Given the description of an element on the screen output the (x, y) to click on. 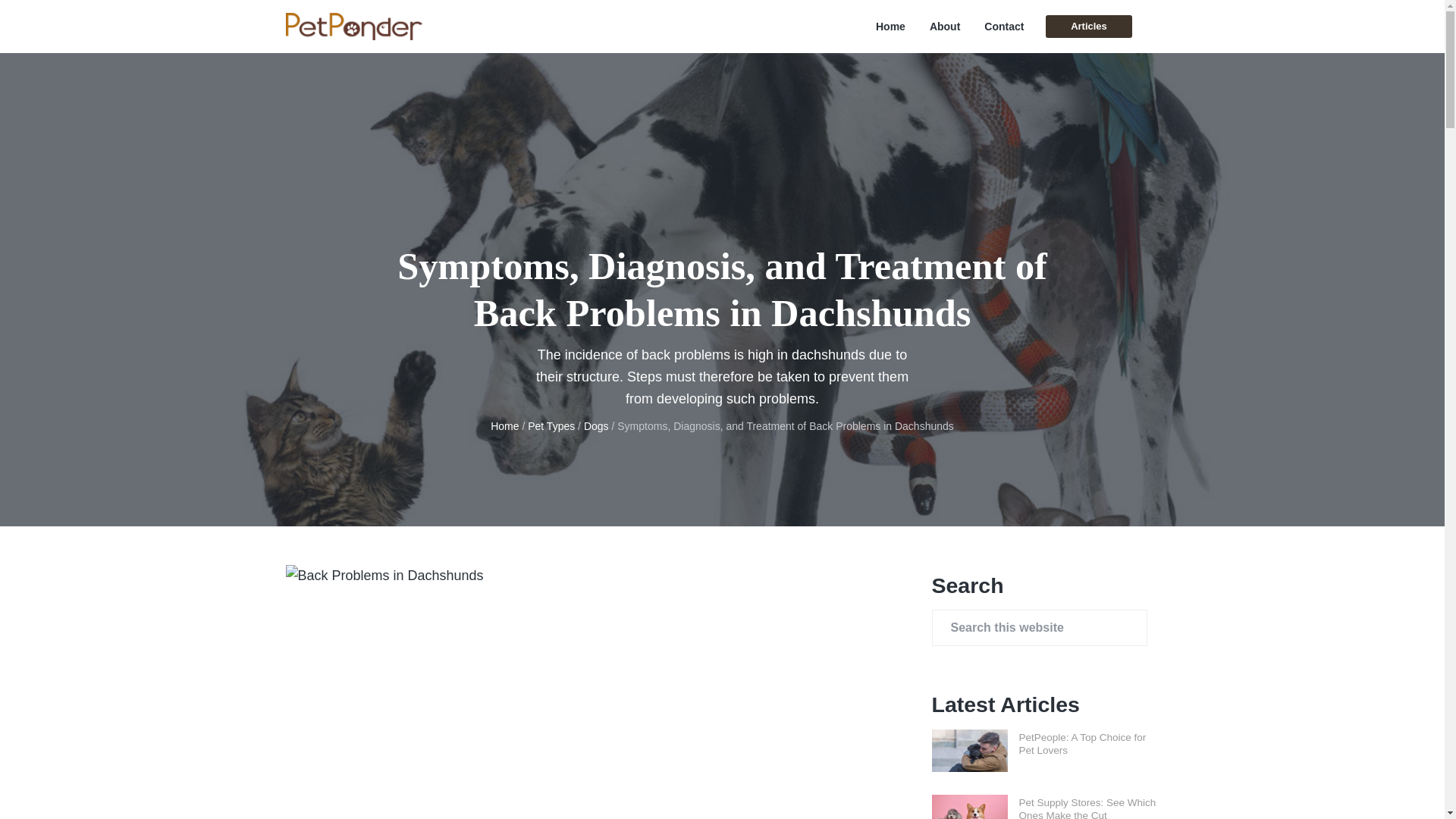
Home (504, 426)
Search (60, 18)
Pet Supply Stores: See Which Ones Make the Cut (1087, 807)
Pet Types (551, 426)
About (944, 27)
Contact (1003, 27)
PetPeople: A Top Choice for Pet Lovers (1083, 743)
Dogs (595, 426)
Home (890, 27)
